Given the description of an element on the screen output the (x, y) to click on. 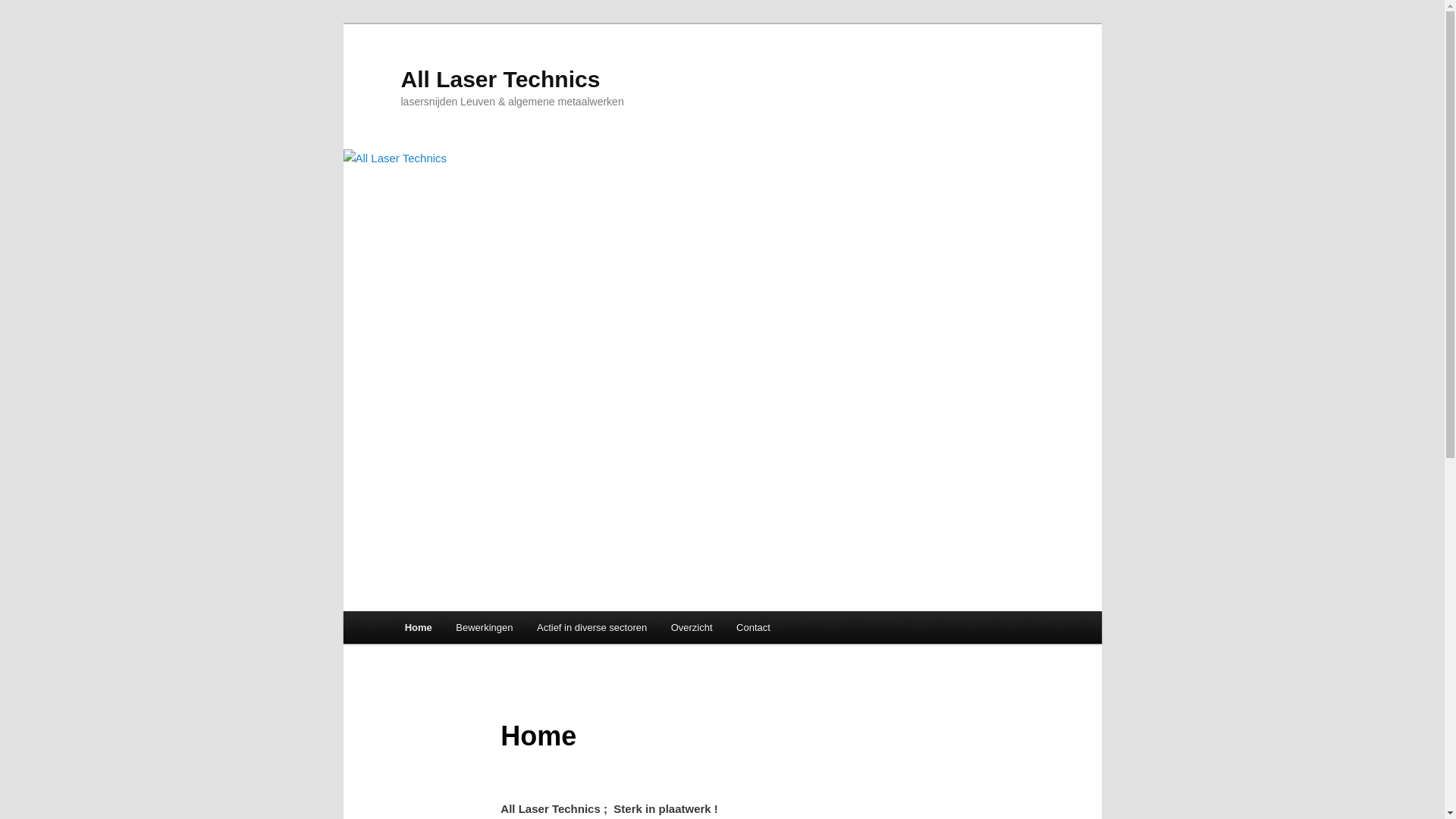
All Laser Technics Element type: text (499, 78)
Home Element type: text (418, 627)
Skip to primary content Element type: text (414, 611)
Overzicht Element type: text (691, 627)
Bewerkingen Element type: text (484, 627)
Contact Element type: text (752, 627)
Actief in diverse sectoren Element type: text (591, 627)
